Given the description of an element on the screen output the (x, y) to click on. 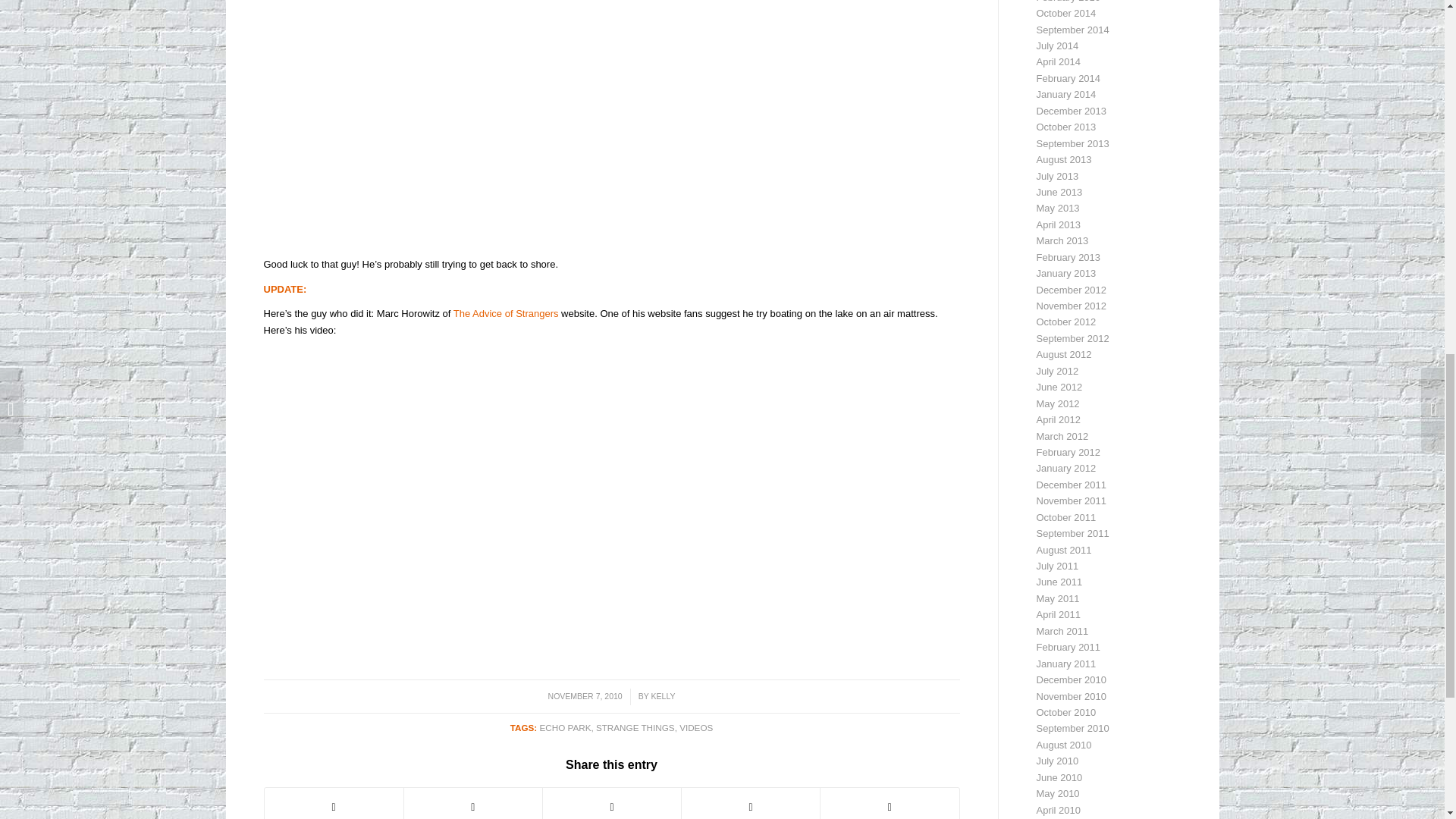
Posts by Kelly (662, 696)
STRANGE THINGS (635, 727)
VIDEOS (696, 727)
KELLY (662, 696)
The Advice of Strangers (505, 313)
ECHO PARK (564, 727)
